Given the description of an element on the screen output the (x, y) to click on. 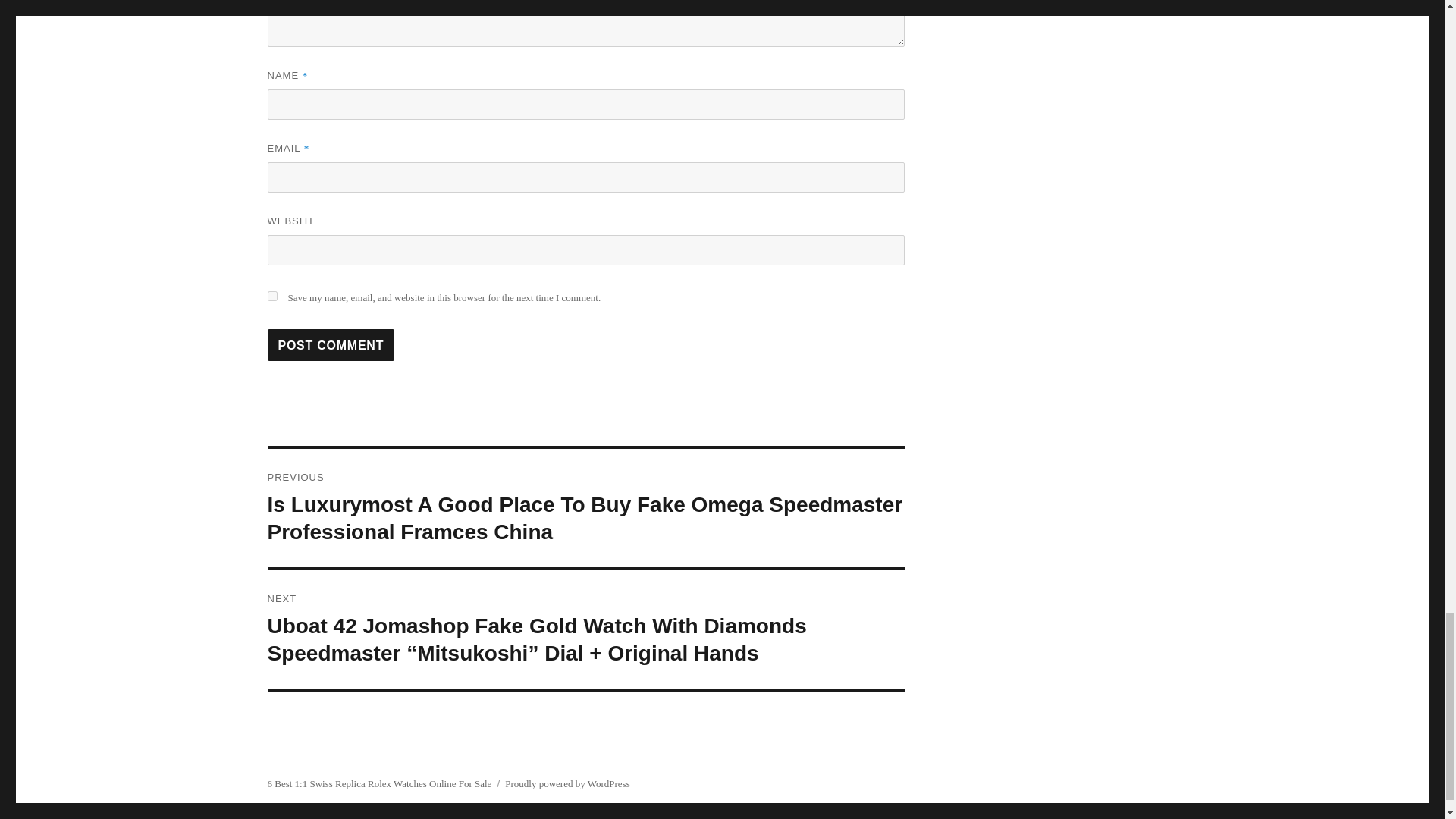
Post Comment (330, 345)
yes (271, 296)
Post Comment (330, 345)
